Given the description of an element on the screen output the (x, y) to click on. 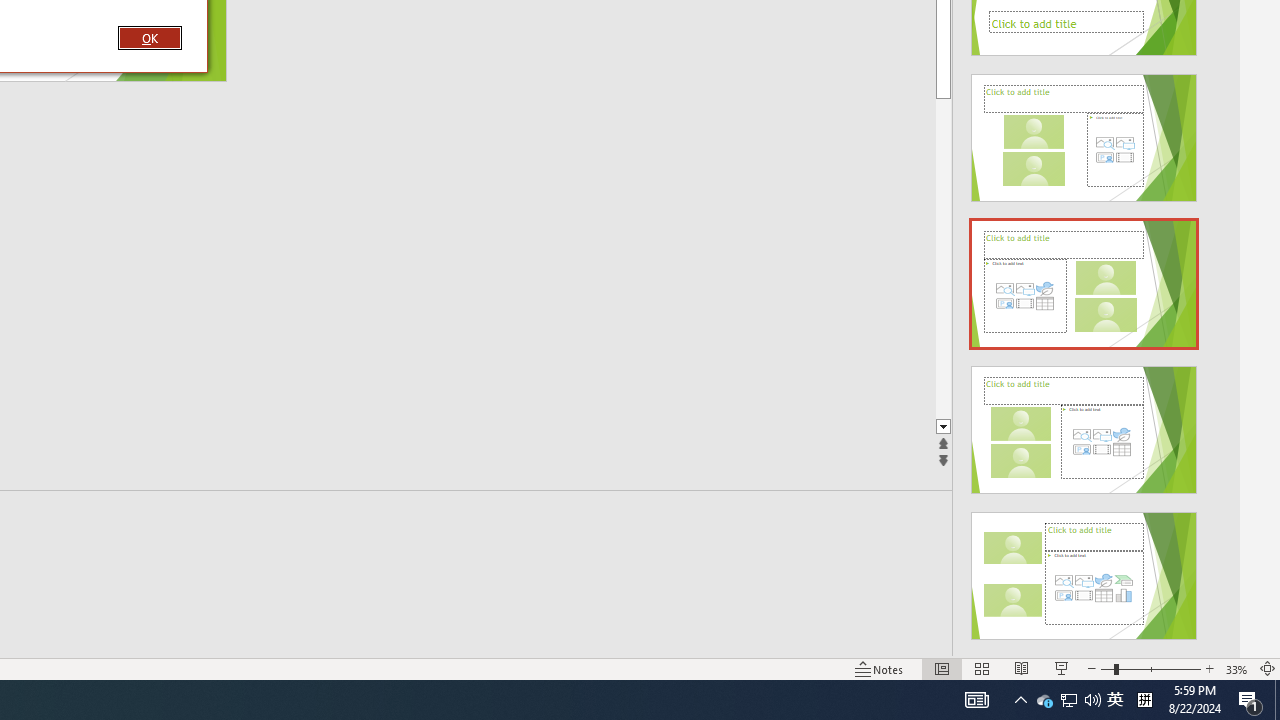
Zoom 33% (1236, 668)
OK (149, 37)
